Given the description of an element on the screen output the (x, y) to click on. 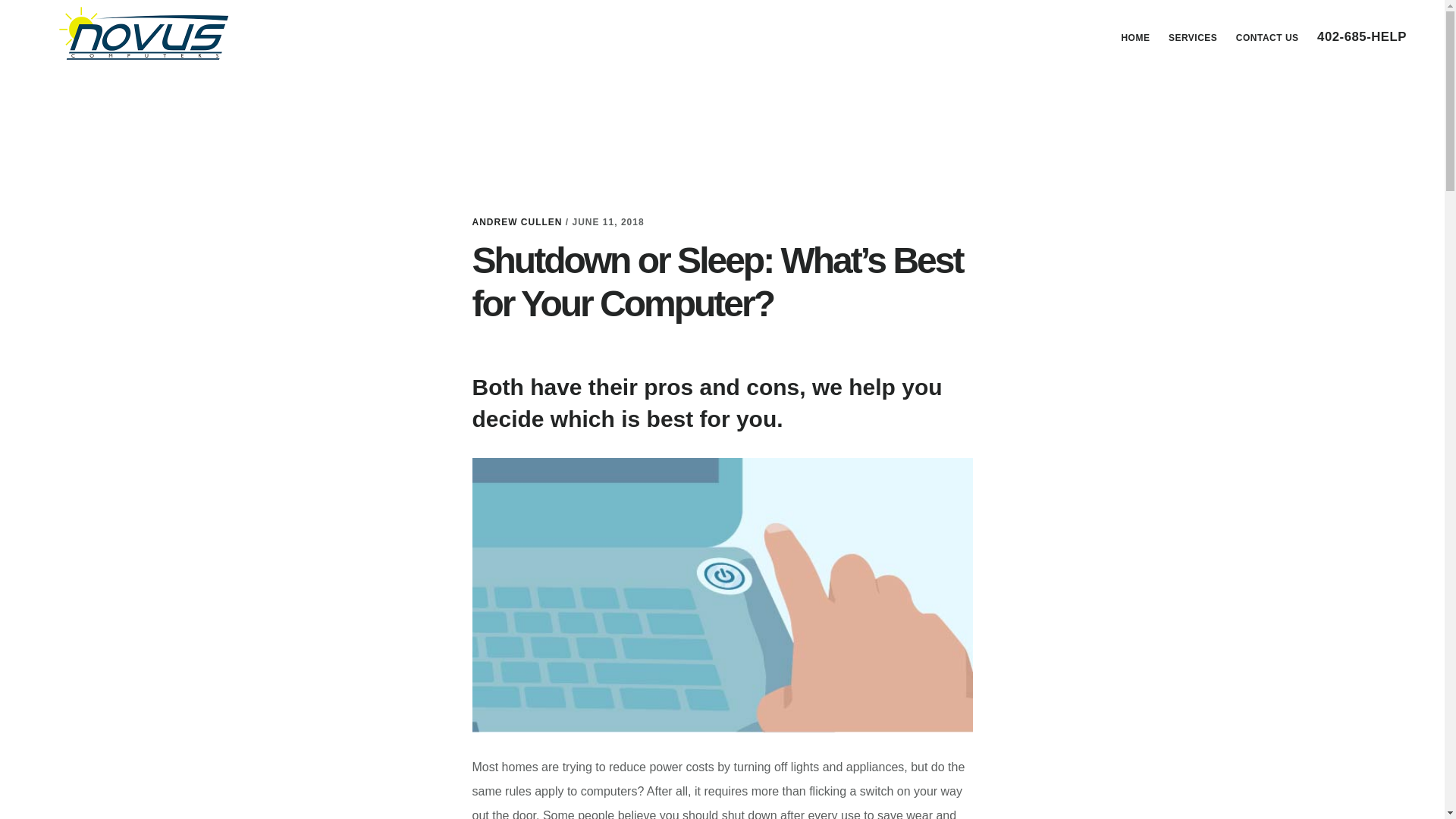
HOME (1135, 37)
NOVUS COMPUTERS (143, 32)
402-685-HELP (1360, 37)
SERVICES (1192, 37)
ANDREW CULLEN (516, 222)
CONTACT US (1267, 37)
